Given the description of an element on the screen output the (x, y) to click on. 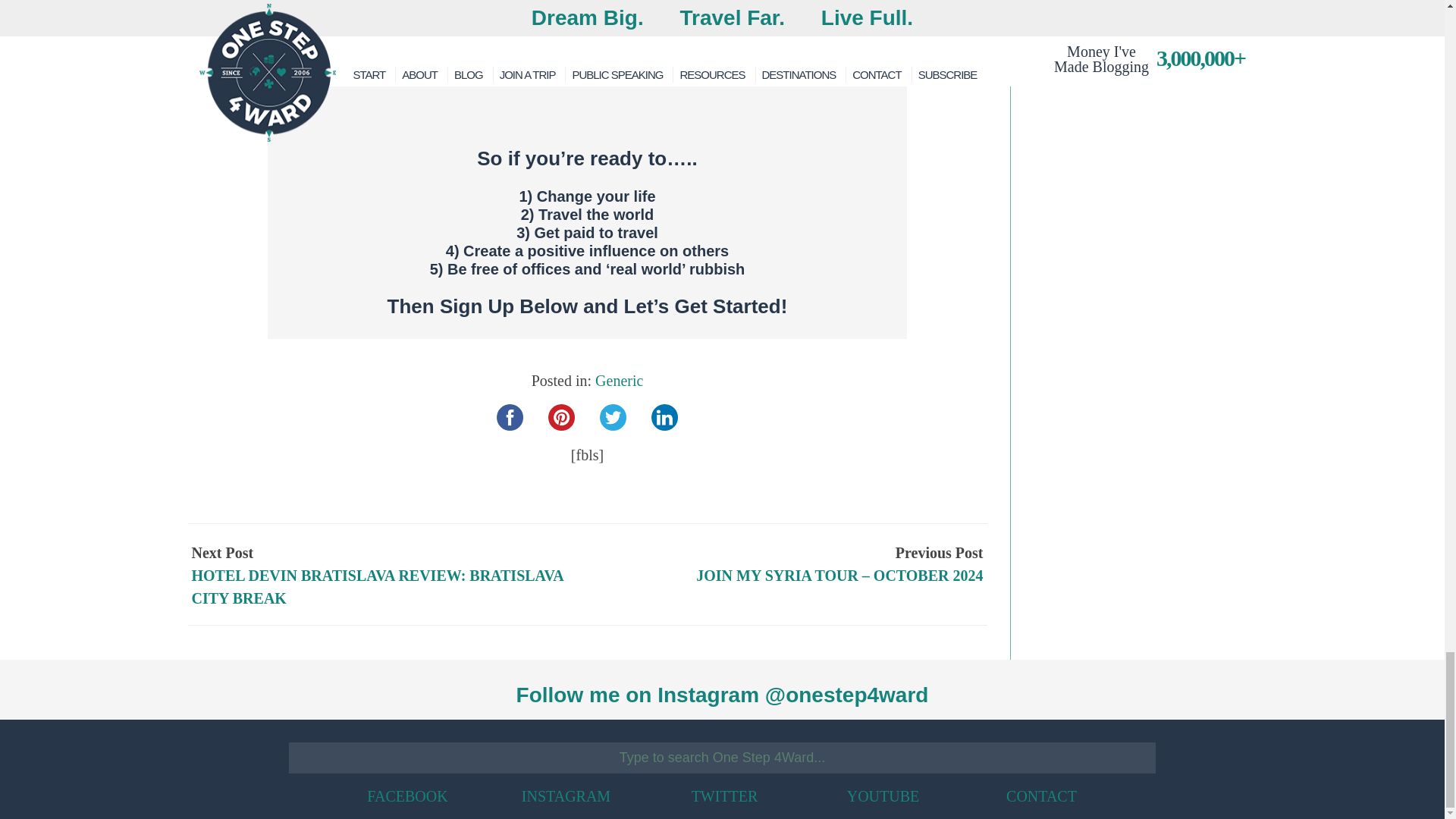
pinterest (561, 416)
facebook (509, 416)
twitter (612, 416)
